Given the description of an element on the screen output the (x, y) to click on. 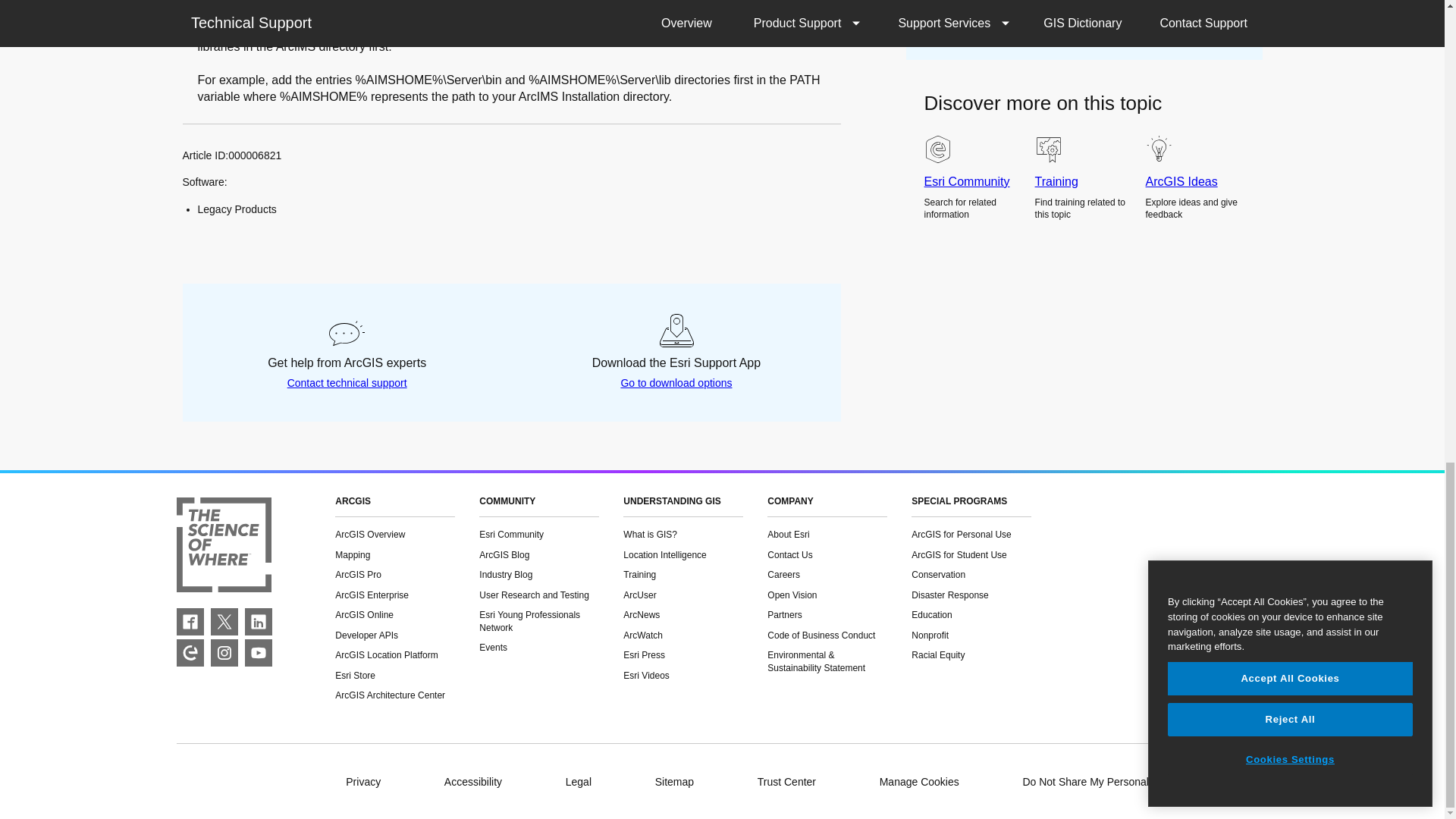
Esri Community (189, 652)
Esri CommunityEsri Community (189, 652)
InstagramInstagram (224, 652)
More about Esri and the Science of Where (223, 547)
YouTube (257, 652)
TwitterTwitter (224, 621)
Twitter (224, 621)
Instagram (224, 652)
LinkedIn (257, 621)
